Given the description of an element on the screen output the (x, y) to click on. 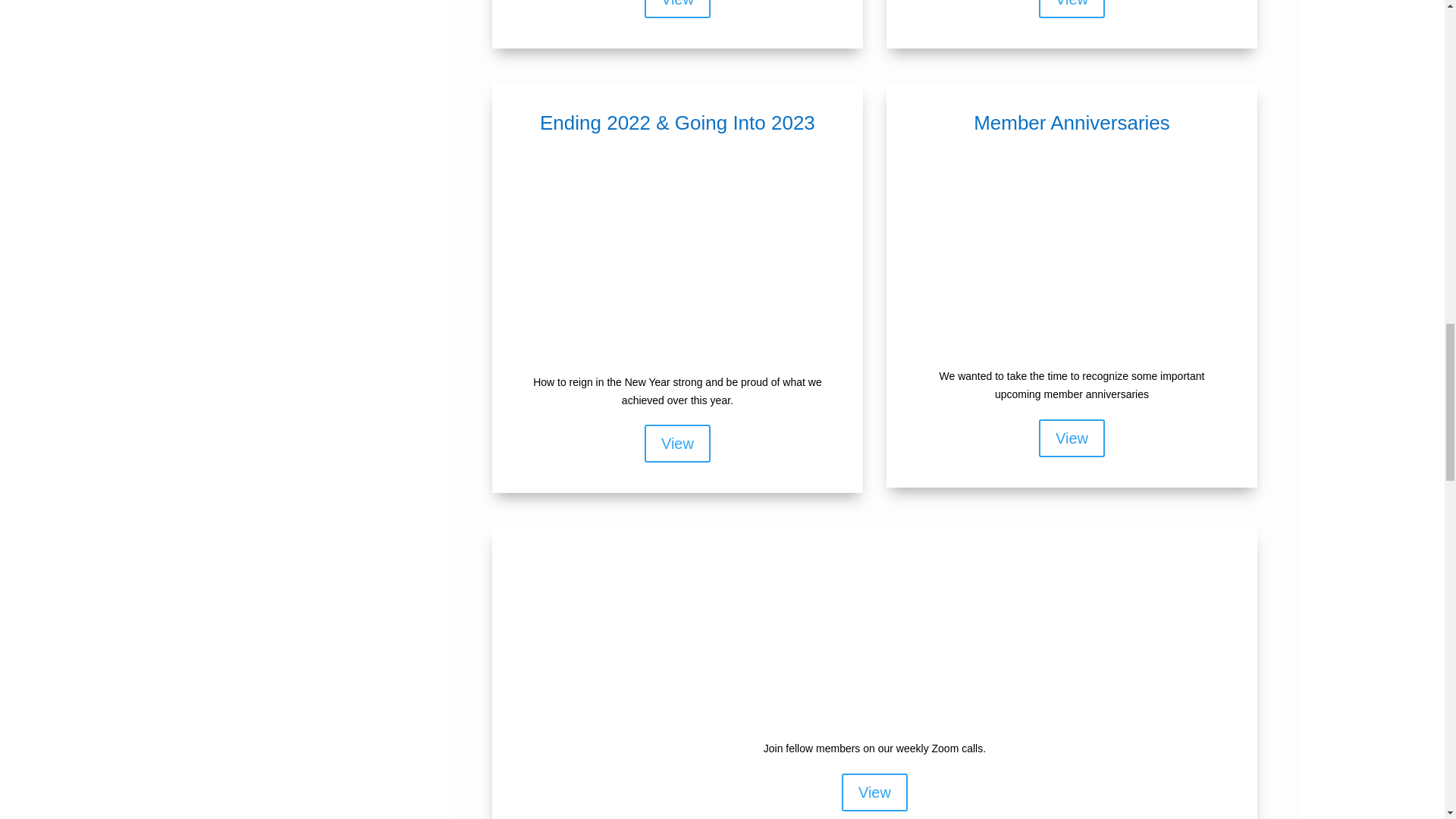
View (677, 9)
